Given the description of an element on the screen output the (x, y) to click on. 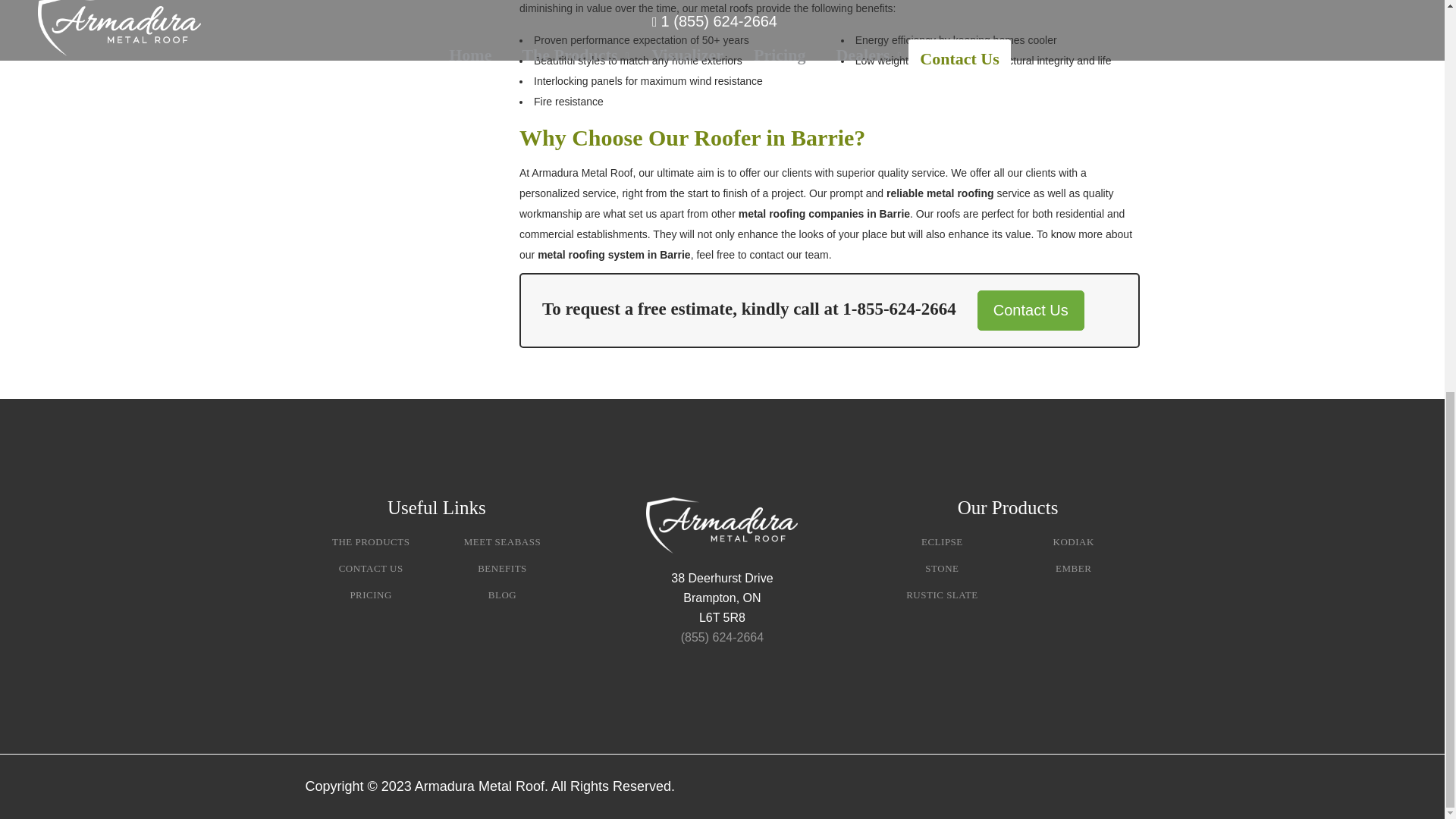
MEET SEABASS (502, 541)
CONTACT US (371, 568)
THE PRODUCTS (370, 541)
Contact Us (1030, 310)
